Given the description of an element on the screen output the (x, y) to click on. 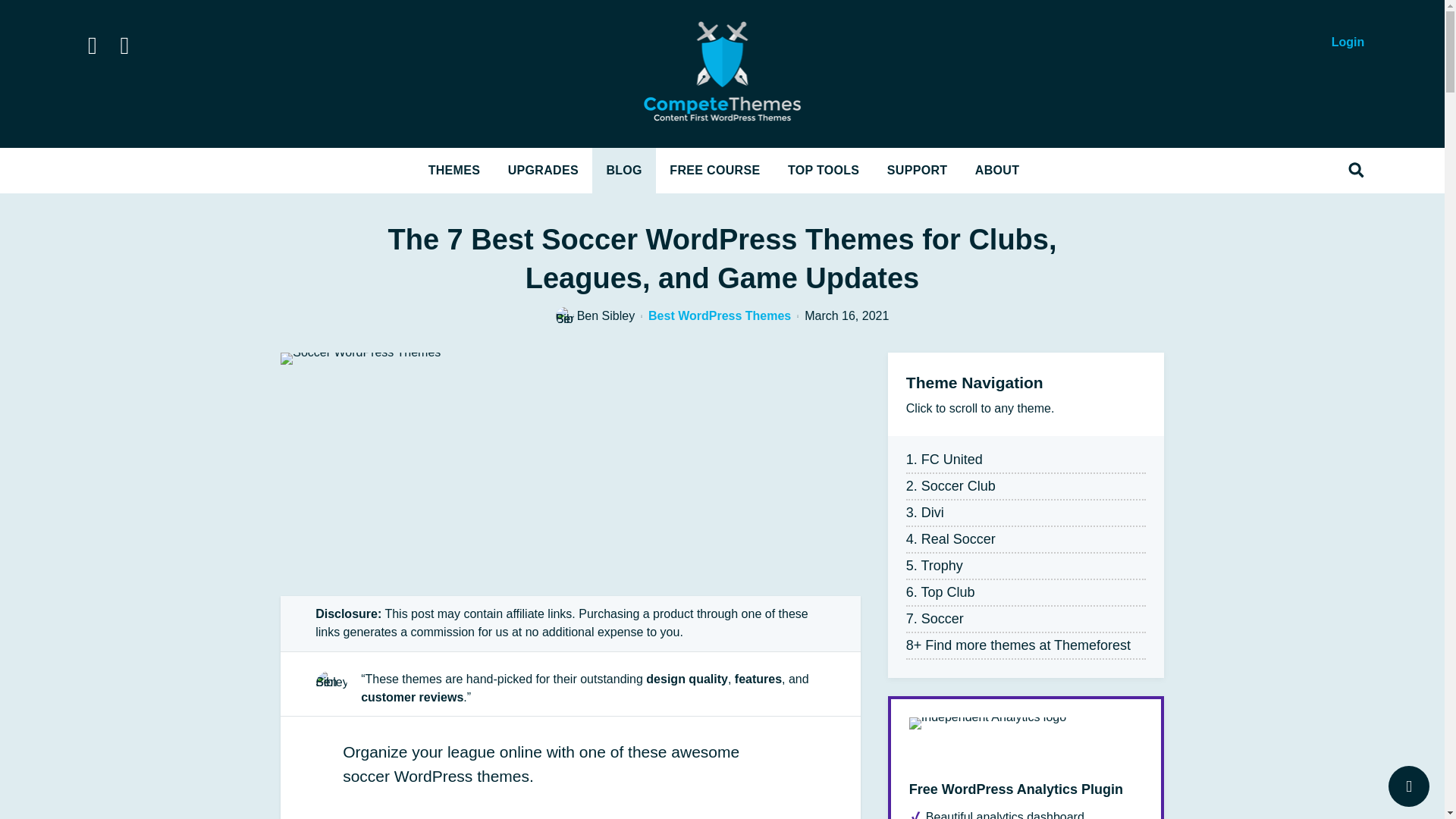
SUPPORT (916, 170)
THEMES (454, 170)
UPGRADES (543, 170)
Compete Themes (721, 73)
TOP TOOLS (823, 170)
Compete Themes (721, 73)
Scroll to the top (1409, 785)
FREE COURSE (714, 170)
ABOUT (996, 170)
Best WordPress Themes (718, 315)
Login (1348, 42)
BLOG (624, 170)
